Given the description of an element on the screen output the (x, y) to click on. 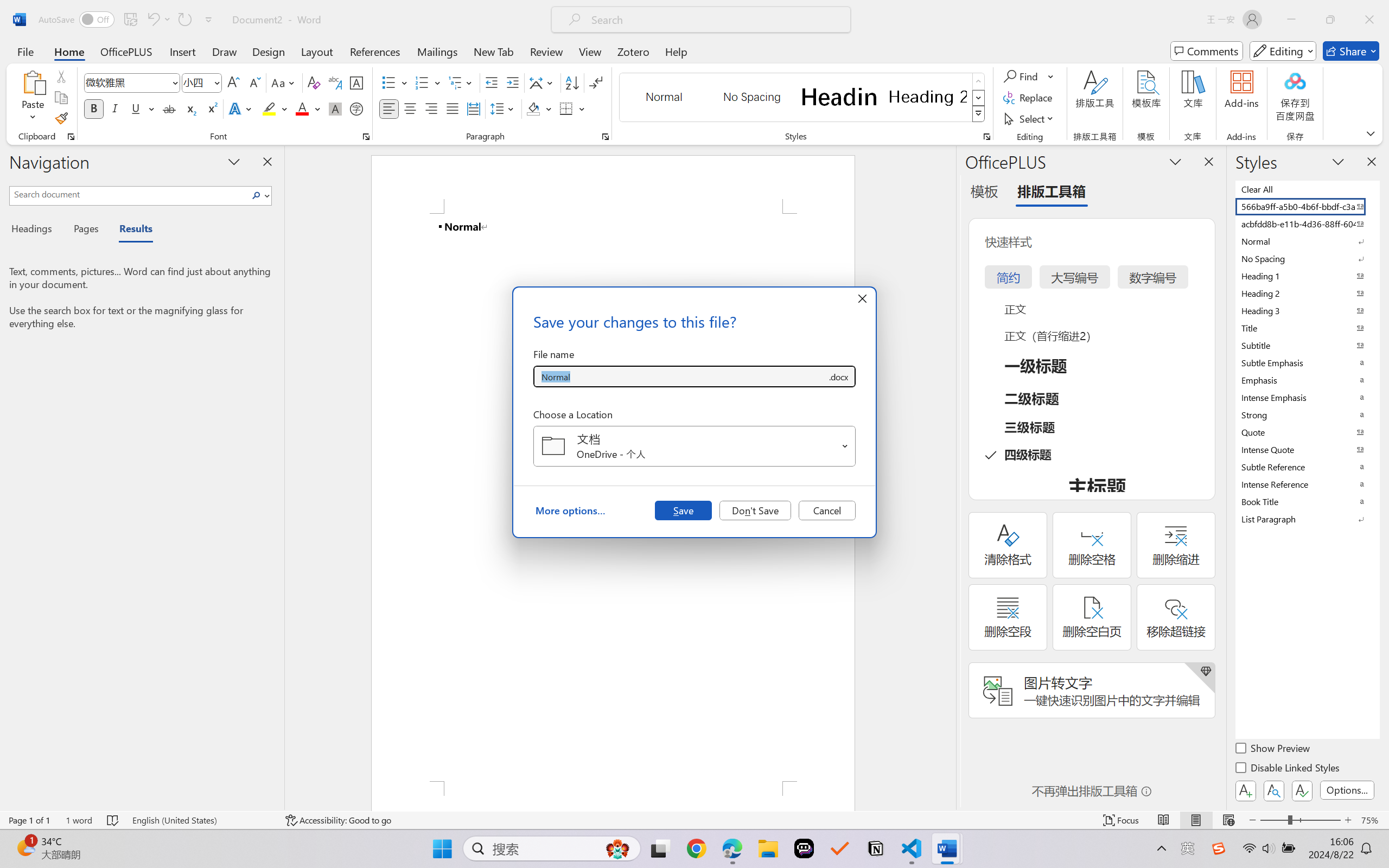
Save (682, 509)
Zoom In (1348, 819)
Help (675, 51)
AutomationID: BadgeAnchorLargeTicker (24, 847)
Underline (135, 108)
Numbering (421, 82)
Zoom (1300, 819)
Bold (94, 108)
Asian Layout (542, 82)
Mode (1283, 50)
